Given the description of an element on the screen output the (x, y) to click on. 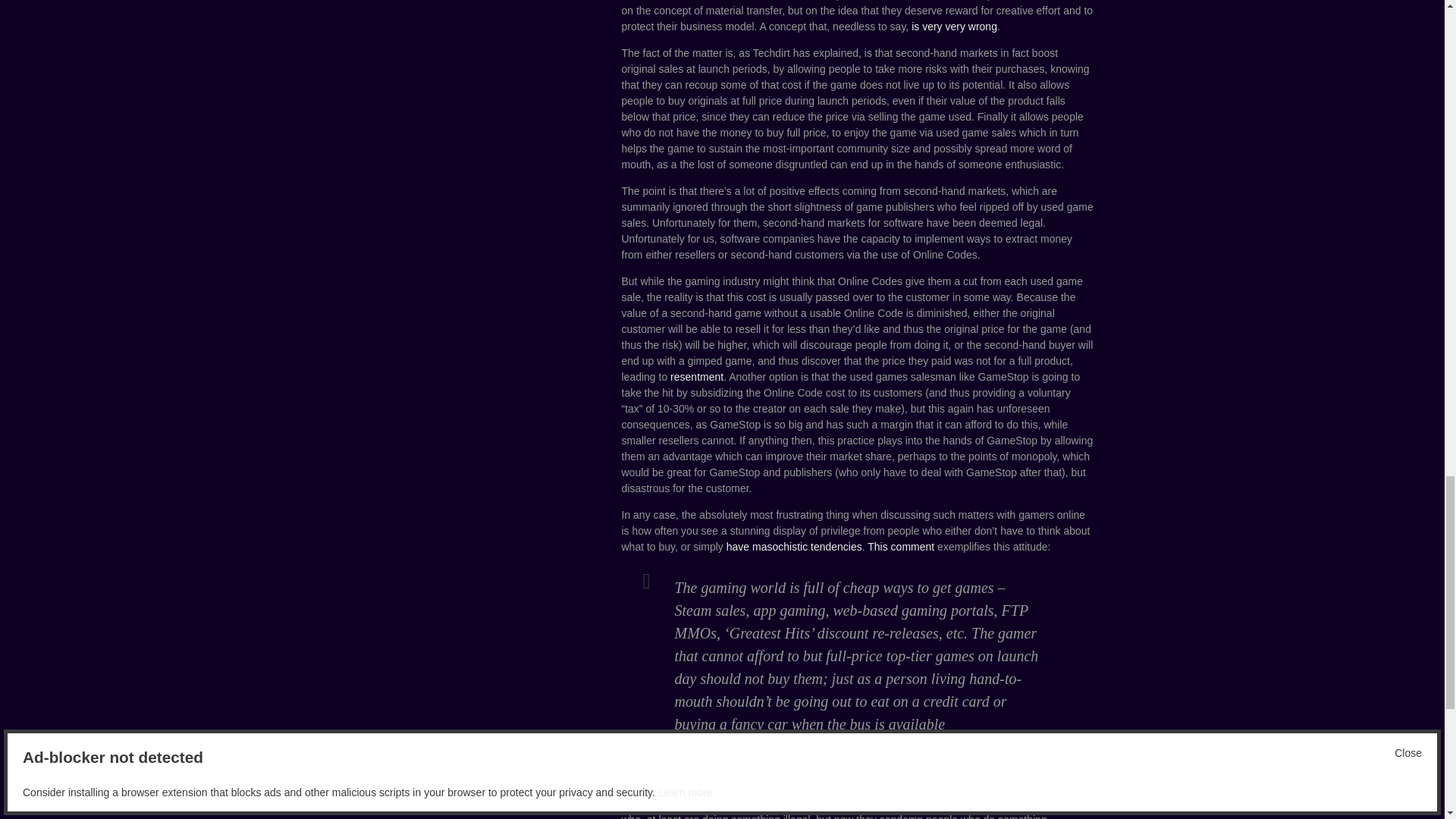
resentment (696, 377)
is very very wrong (952, 26)
have masochistic tendencies (793, 546)
This comment (900, 546)
